Given the description of an element on the screen output the (x, y) to click on. 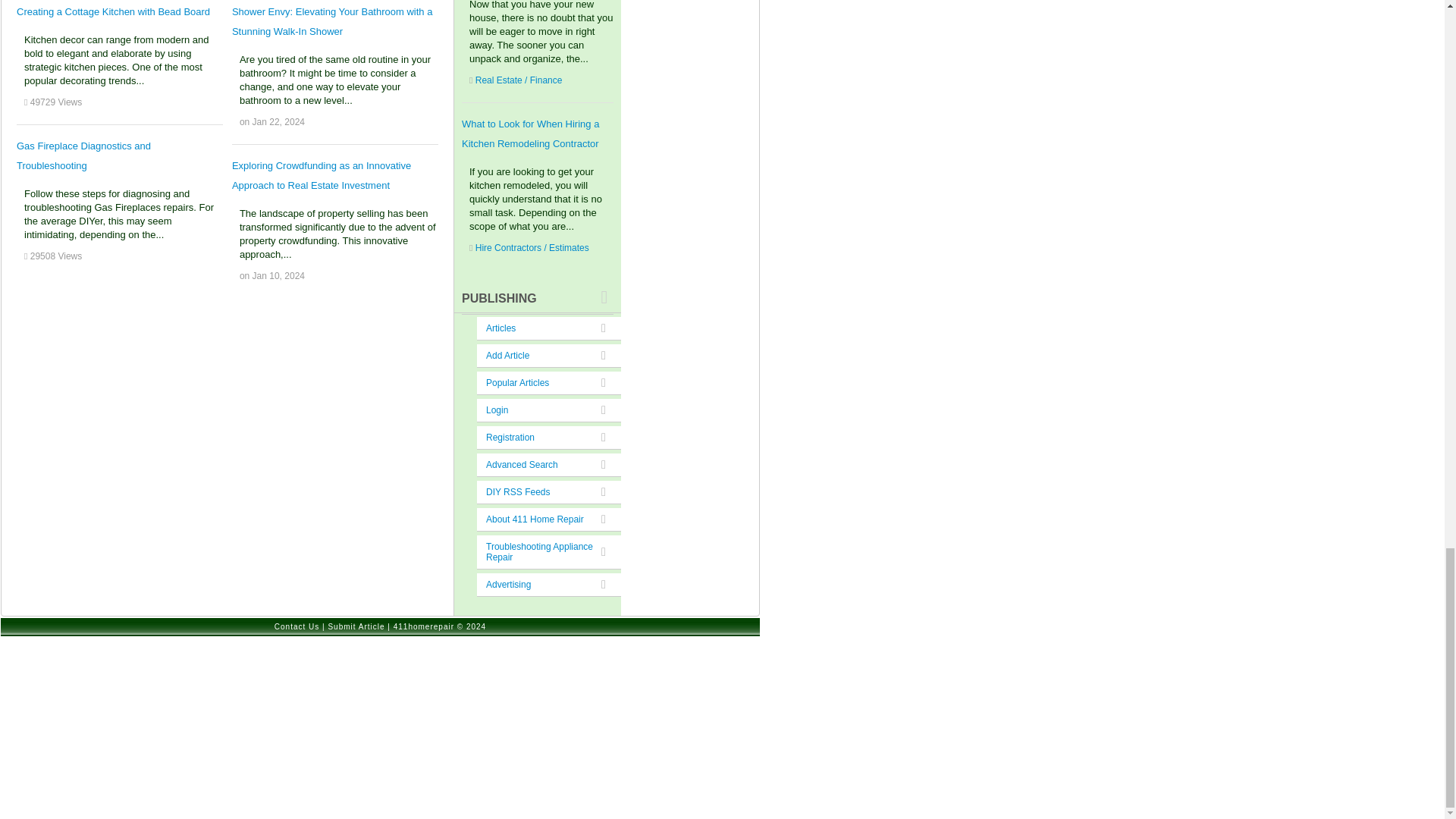
Gas Fireplace Diagnostics and Troubleshooting (83, 155)
Creating a Cottage Kitchen with Bead Board (112, 11)
